Given the description of an element on the screen output the (x, y) to click on. 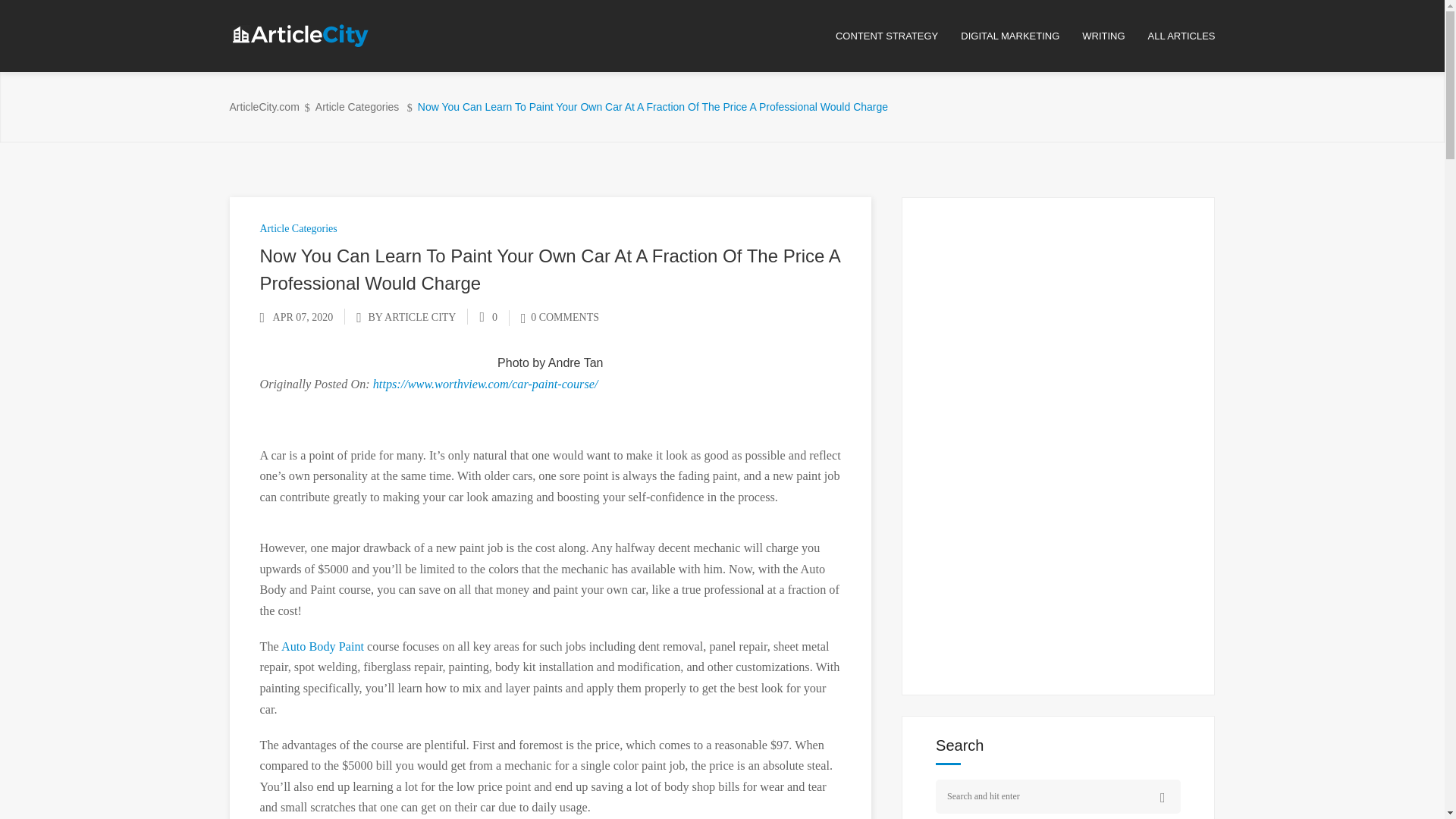
DIGITAL MARKETING (1020, 36)
Like this (488, 317)
ArticleCity.com (263, 107)
Auto Body Paint (322, 646)
0 (488, 317)
ALL ARTICLES (1181, 36)
Photo (513, 362)
0 COMMENTS (559, 317)
WRITING (1114, 36)
Article Categories (356, 107)
CONTENT STRATEGY (897, 36)
Article Categories (297, 228)
BY ARTICLE CITY (411, 317)
